Given the description of an element on the screen output the (x, y) to click on. 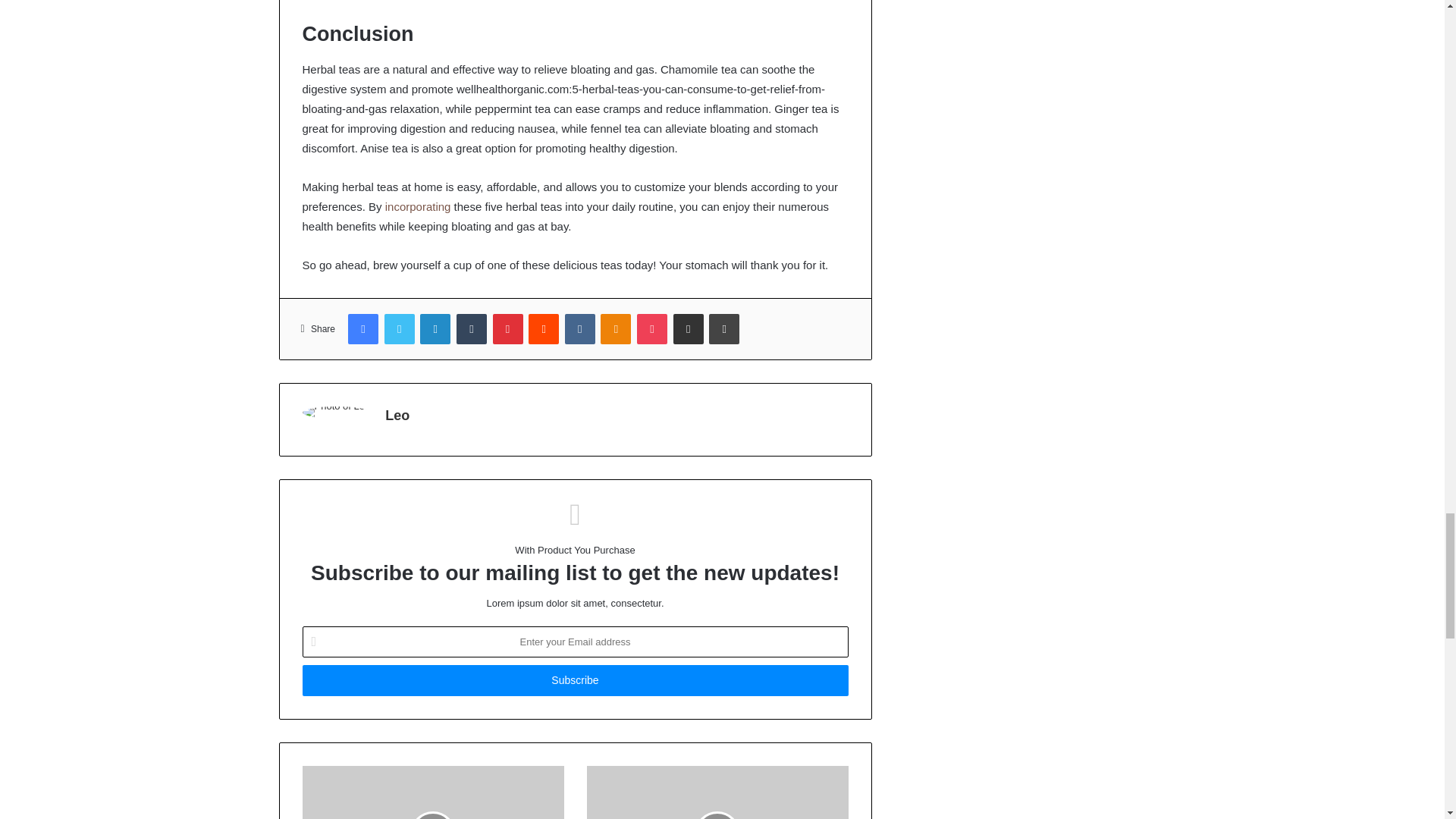
incorporating (418, 205)
Subscribe (574, 680)
